Given the description of an element on the screen output the (x, y) to click on. 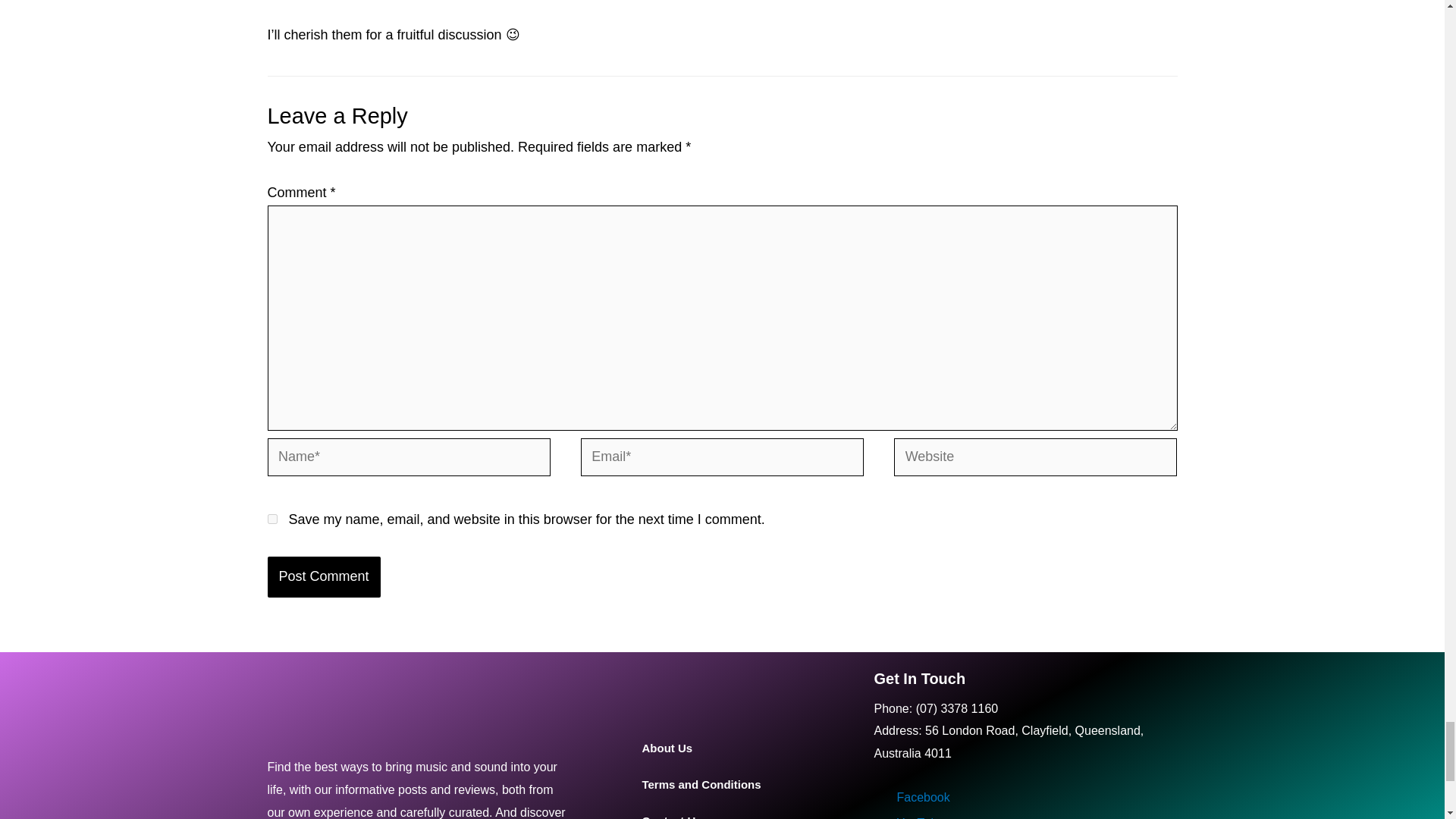
Post Comment (323, 576)
yes (271, 519)
